Given the description of an element on the screen output the (x, y) to click on. 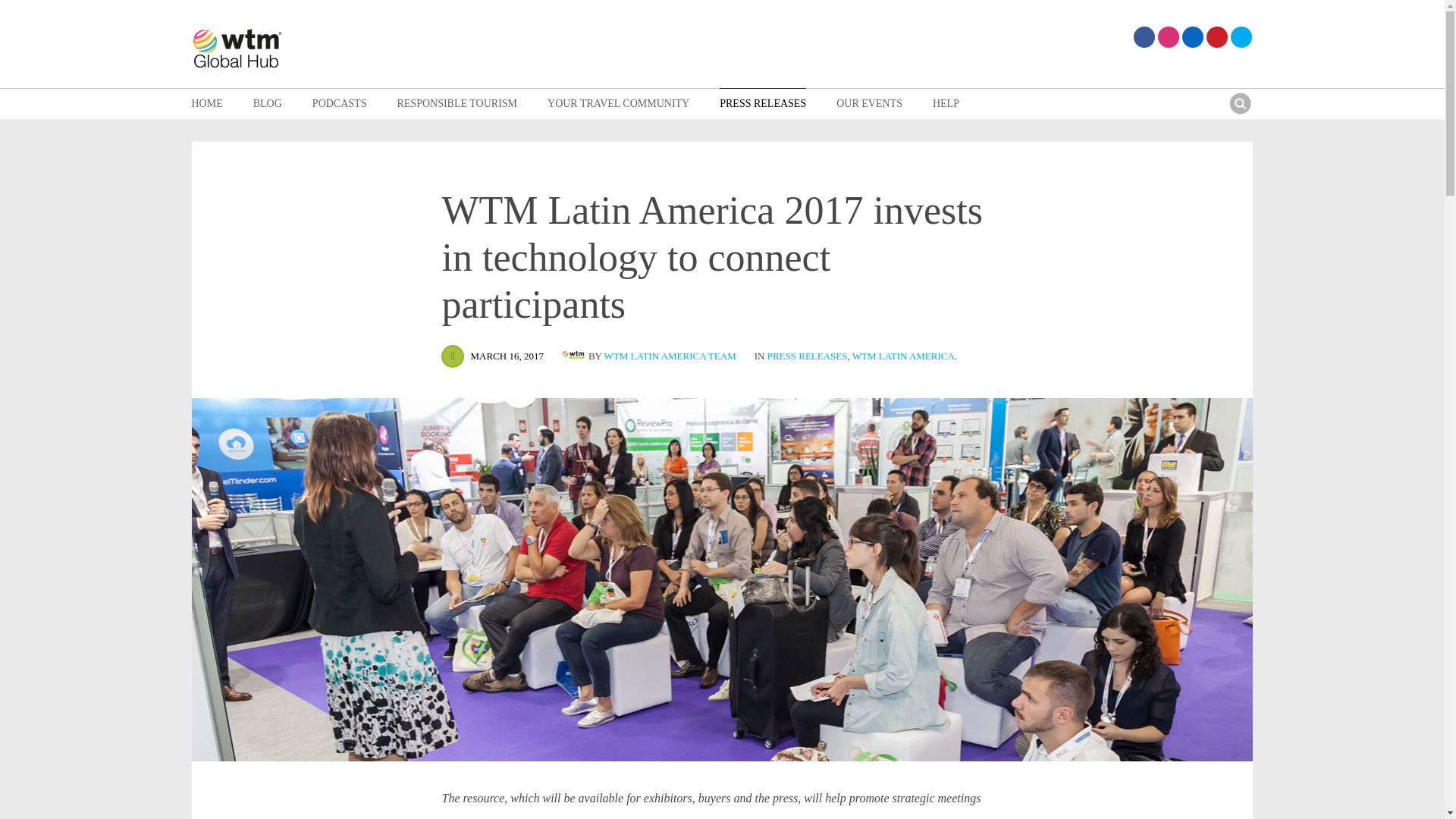
HOME (206, 103)
OUR EVENTS (868, 103)
View all posts by WTM Latin America Team (670, 355)
Posts by WTM Latin America Team (575, 355)
Twitter (1240, 36)
Facebook (1143, 36)
RESPONSIBLE TOURISM (456, 103)
PRESS RELEASES (762, 102)
Instagram (1167, 36)
YOUR TRAVEL COMMUNITY (617, 103)
WTM Global Hub (236, 49)
Search (1239, 103)
PODCASTS (339, 103)
